Given the description of an element on the screen output the (x, y) to click on. 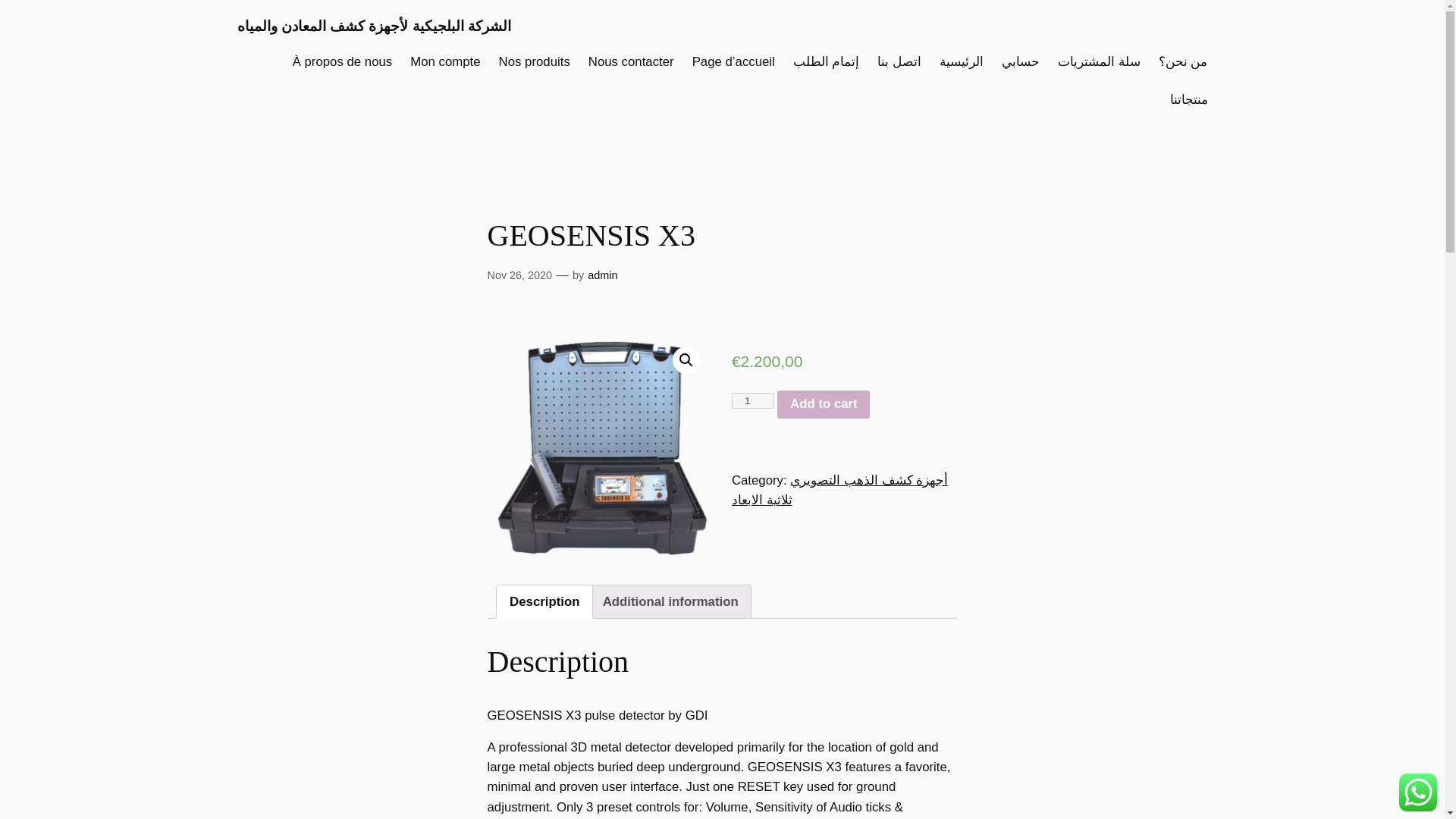
Qty (753, 400)
Nos produits (534, 62)
Nous contacter (631, 62)
Nov 26, 2020 (518, 275)
1 (753, 400)
Add to cart (823, 404)
PayPal (845, 457)
Additional information (670, 601)
Mon compte (445, 62)
Description (544, 601)
admin (602, 275)
